Given the description of an element on the screen output the (x, y) to click on. 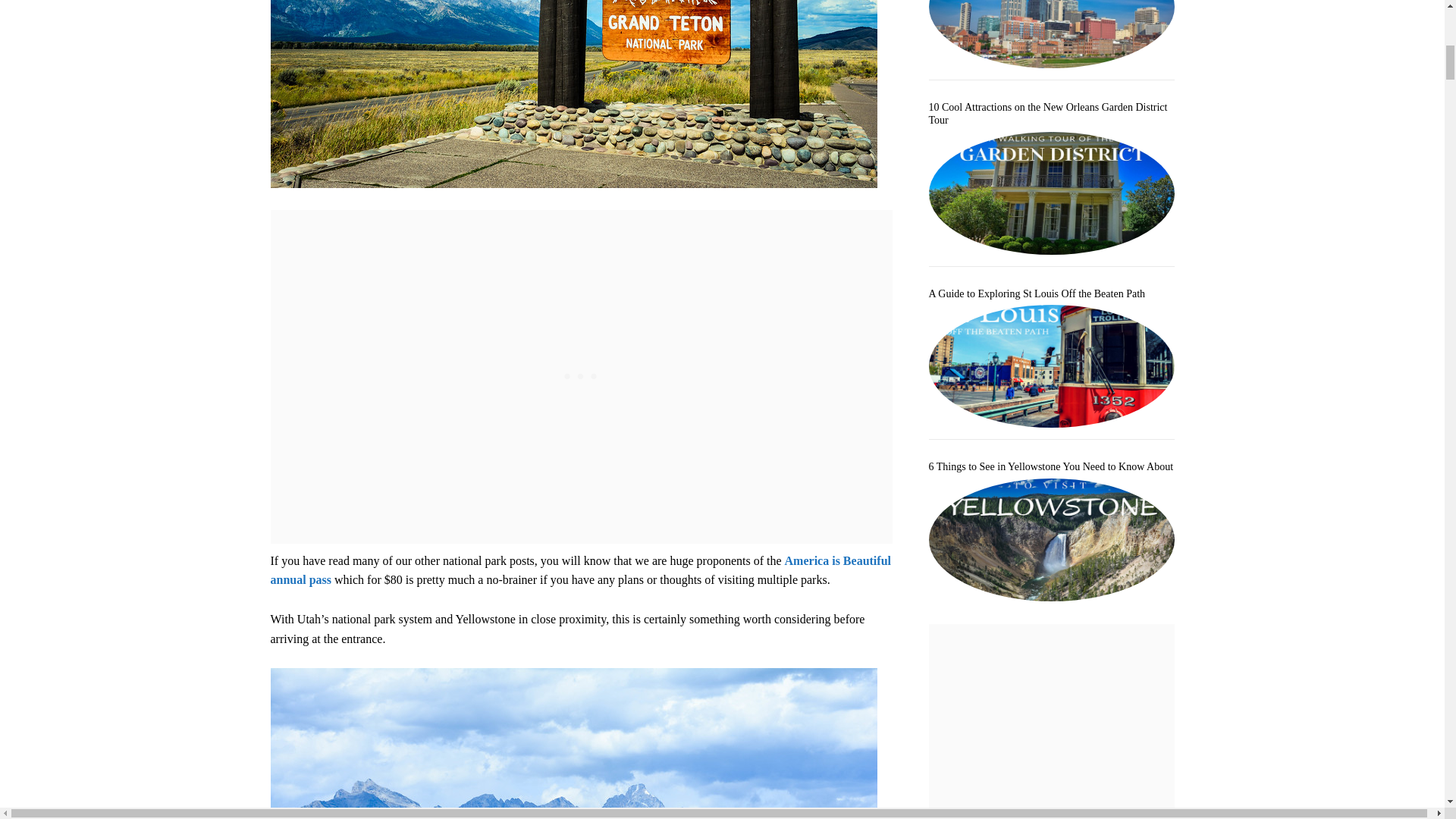
America is Beautiful annual pass (579, 570)
